Given the description of an element on the screen output the (x, y) to click on. 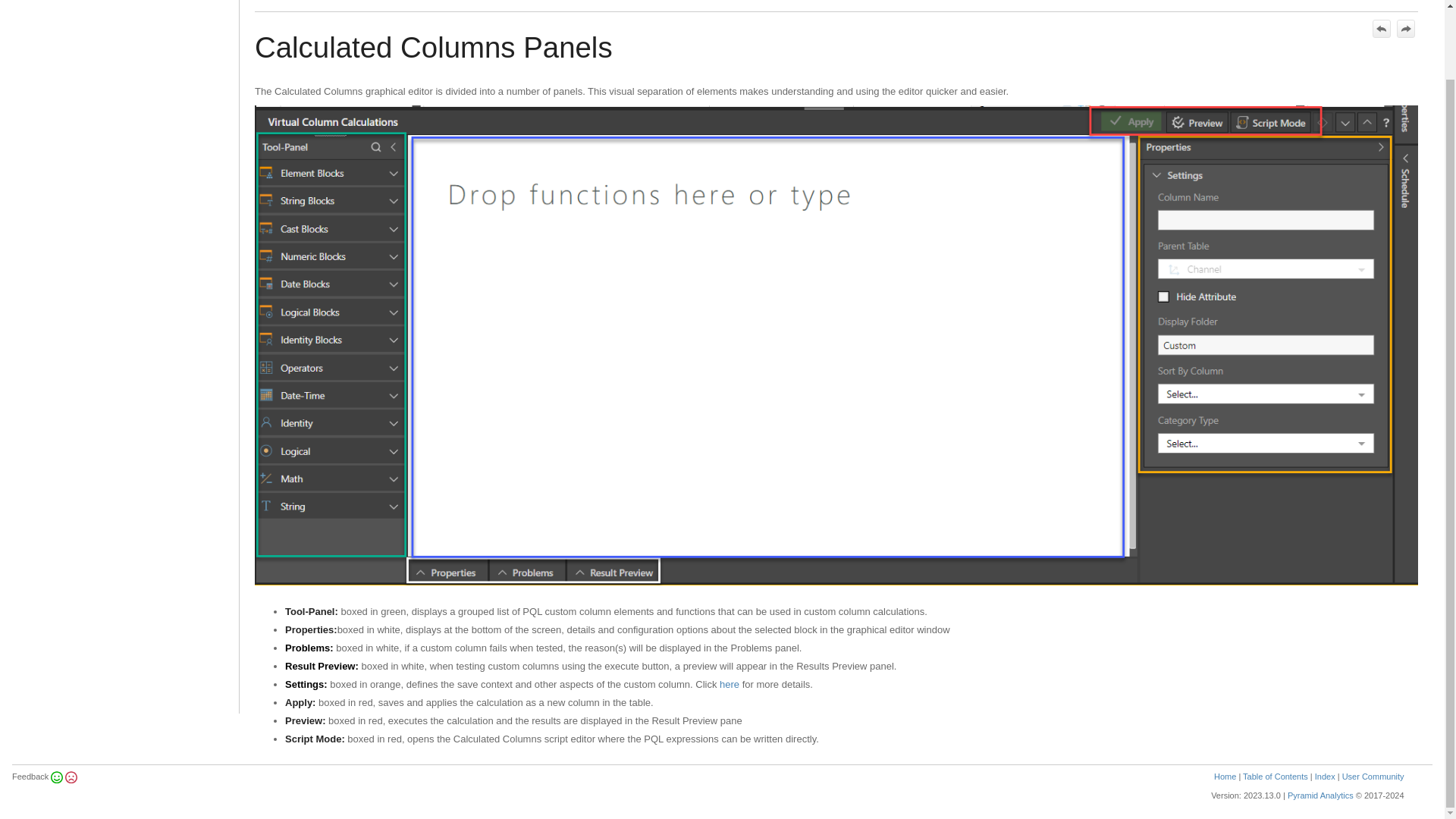
Table of Contents (1275, 776)
Index (1324, 776)
here (729, 684)
Navigate next (1405, 28)
Home (1225, 776)
Yes, this article was helpful. (56, 776)
No, this article wasn't helpful. (69, 776)
User Community (1373, 776)
Pyramid Analytics (1320, 795)
Navigate previous (1381, 28)
